Given the description of an element on the screen output the (x, y) to click on. 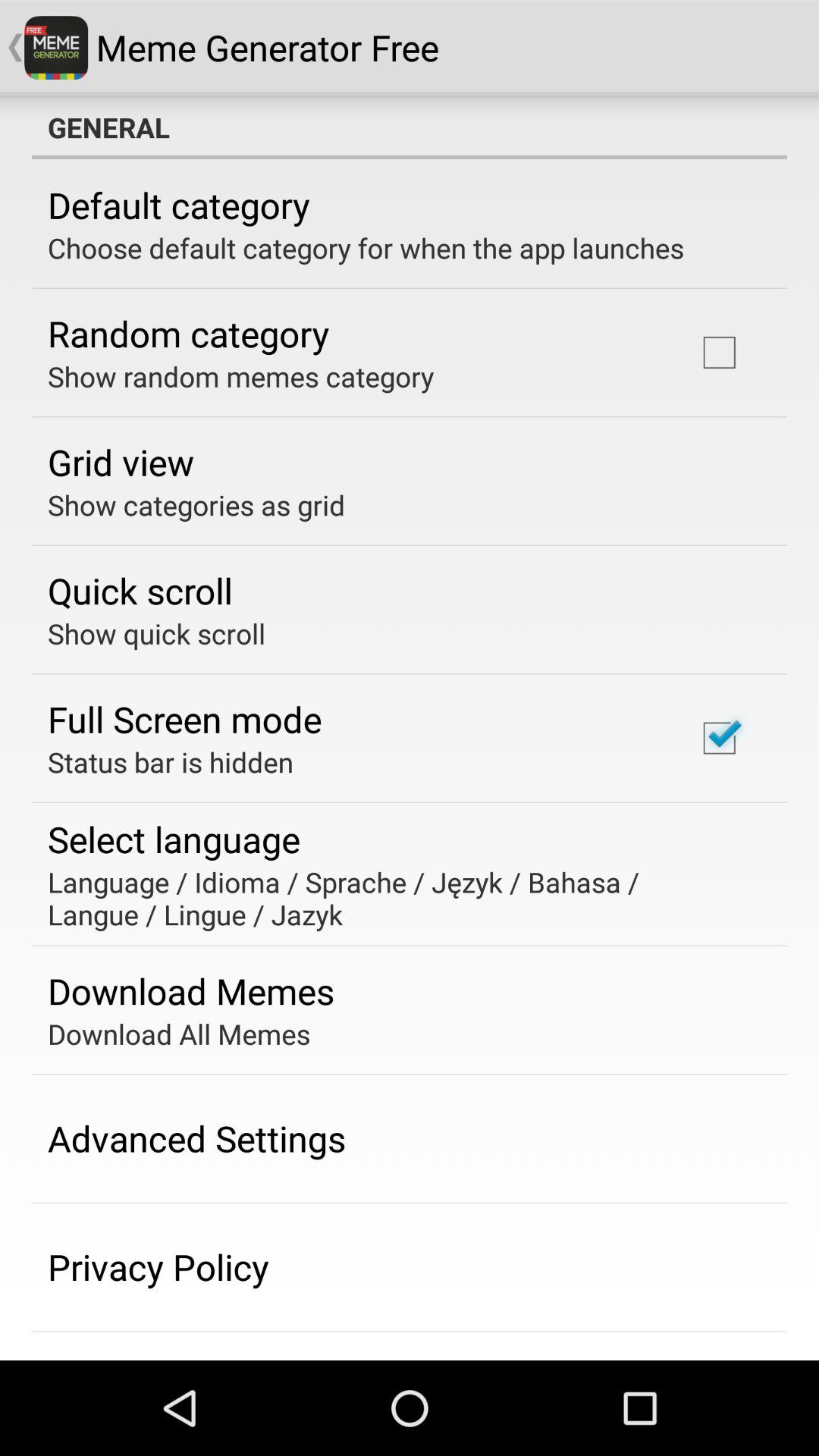
jump until show categories as icon (196, 504)
